Given the description of an element on the screen output the (x, y) to click on. 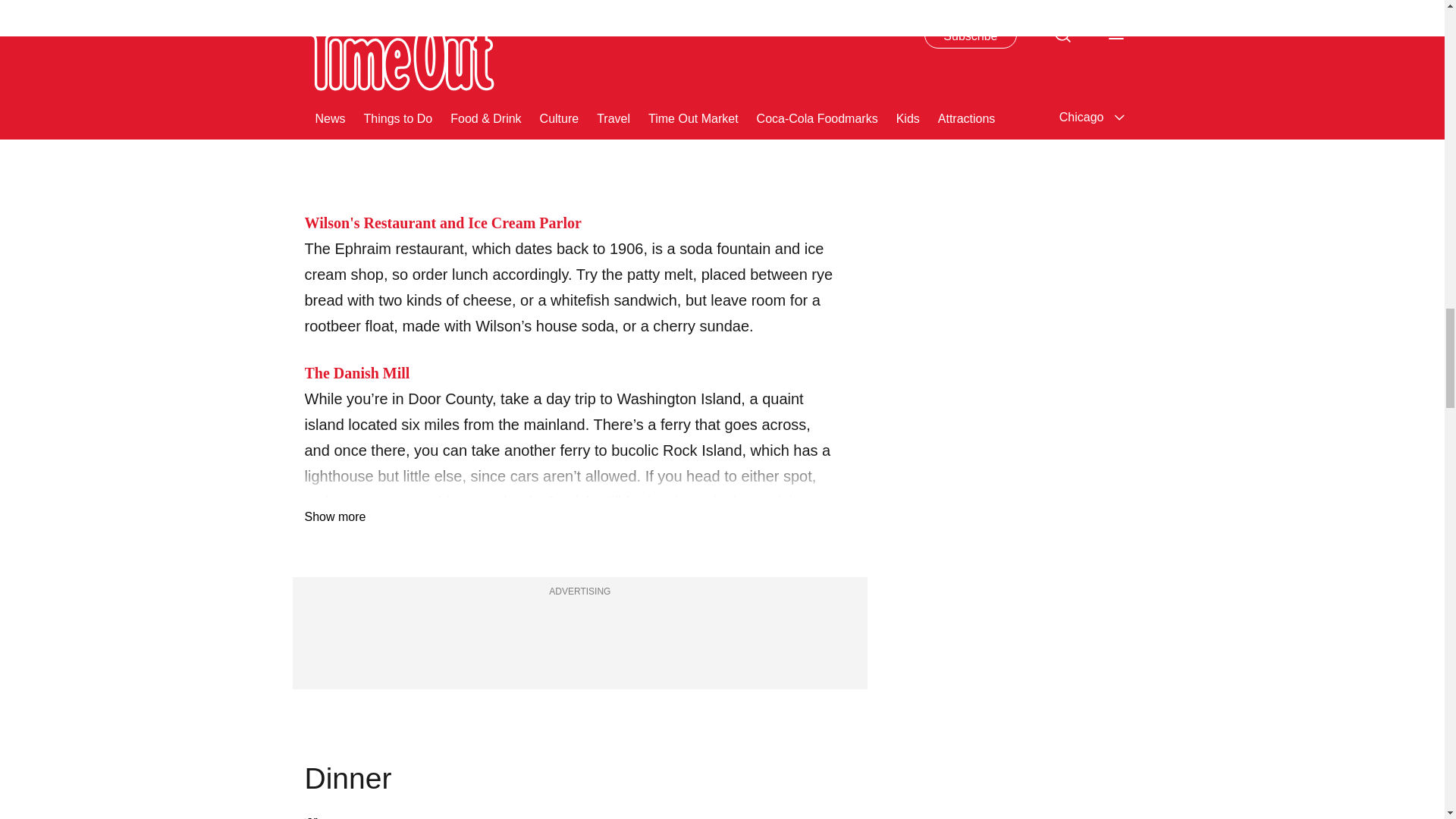
Lunch (568, 81)
